Given the description of an element on the screen output the (x, y) to click on. 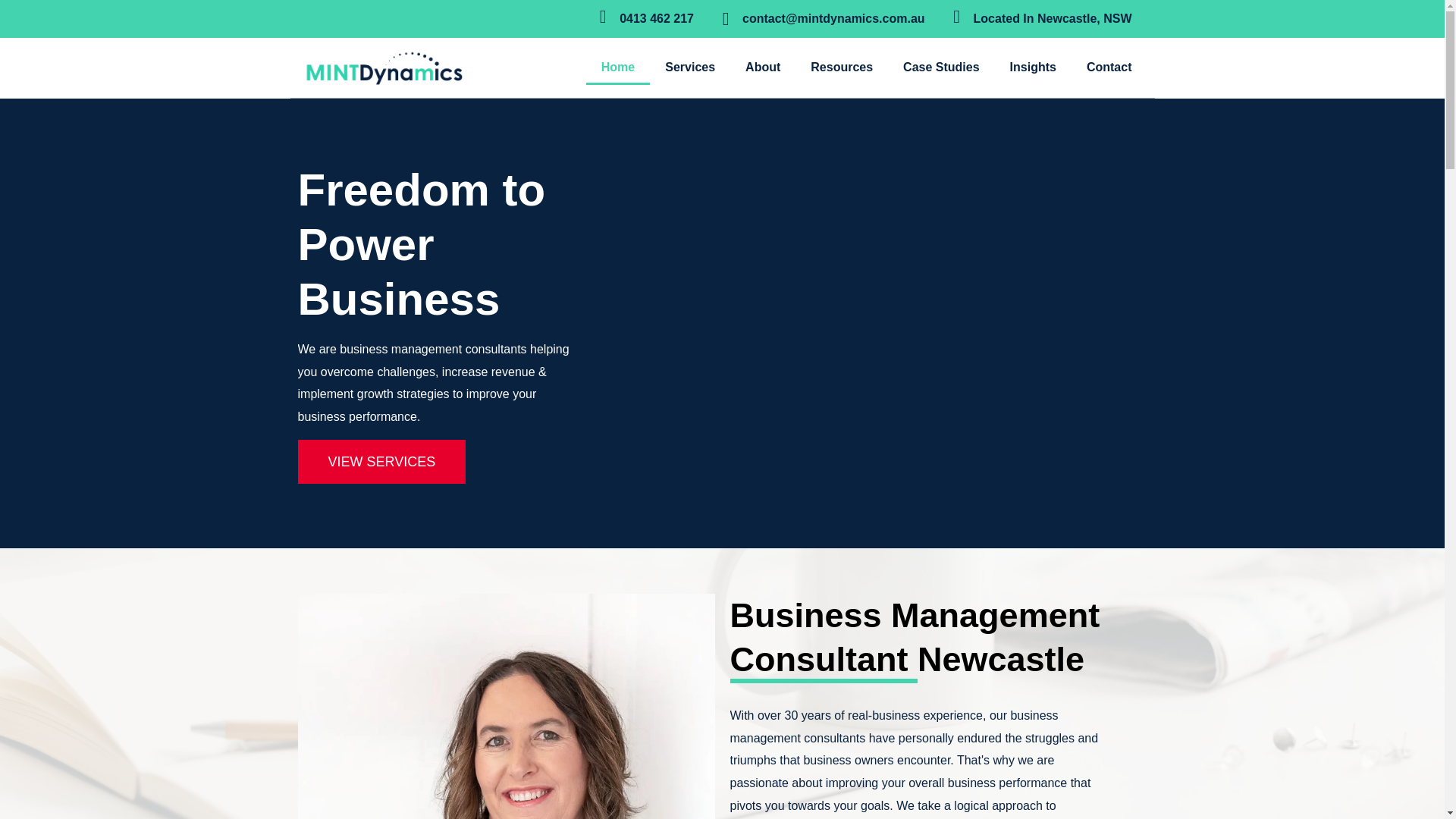
VIEW SERVICES (381, 461)
Insights (1032, 67)
Home (617, 67)
Services (689, 67)
Contact (1109, 67)
About (762, 67)
Case Studies (941, 67)
Resources (841, 67)
